Given the description of an element on the screen output the (x, y) to click on. 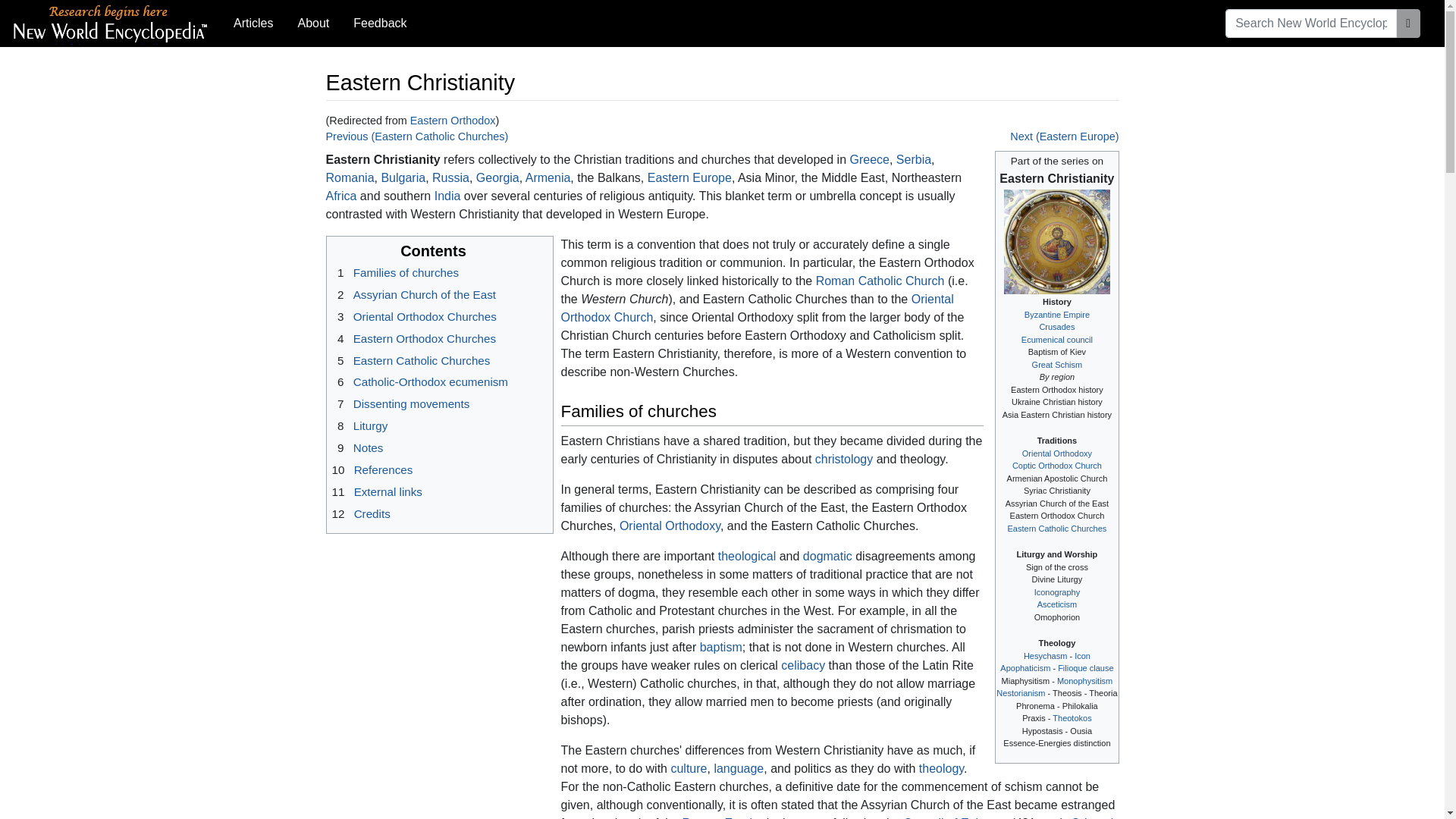
Monophysitism (1084, 680)
Crusades (1056, 326)
Crusades (1056, 326)
Coptic Orthodox Church of Alexandria (1056, 465)
Hesychasm (1045, 655)
Theotokos (1071, 717)
Filioque clause (1085, 667)
Serbia (913, 159)
Greece (868, 159)
Eastern Christianity (1055, 178)
Negative theology (1024, 667)
Georgia (497, 177)
Great Schism (1057, 364)
Iconography (1056, 592)
Hesychasm (1045, 655)
